Given the description of an element on the screen output the (x, y) to click on. 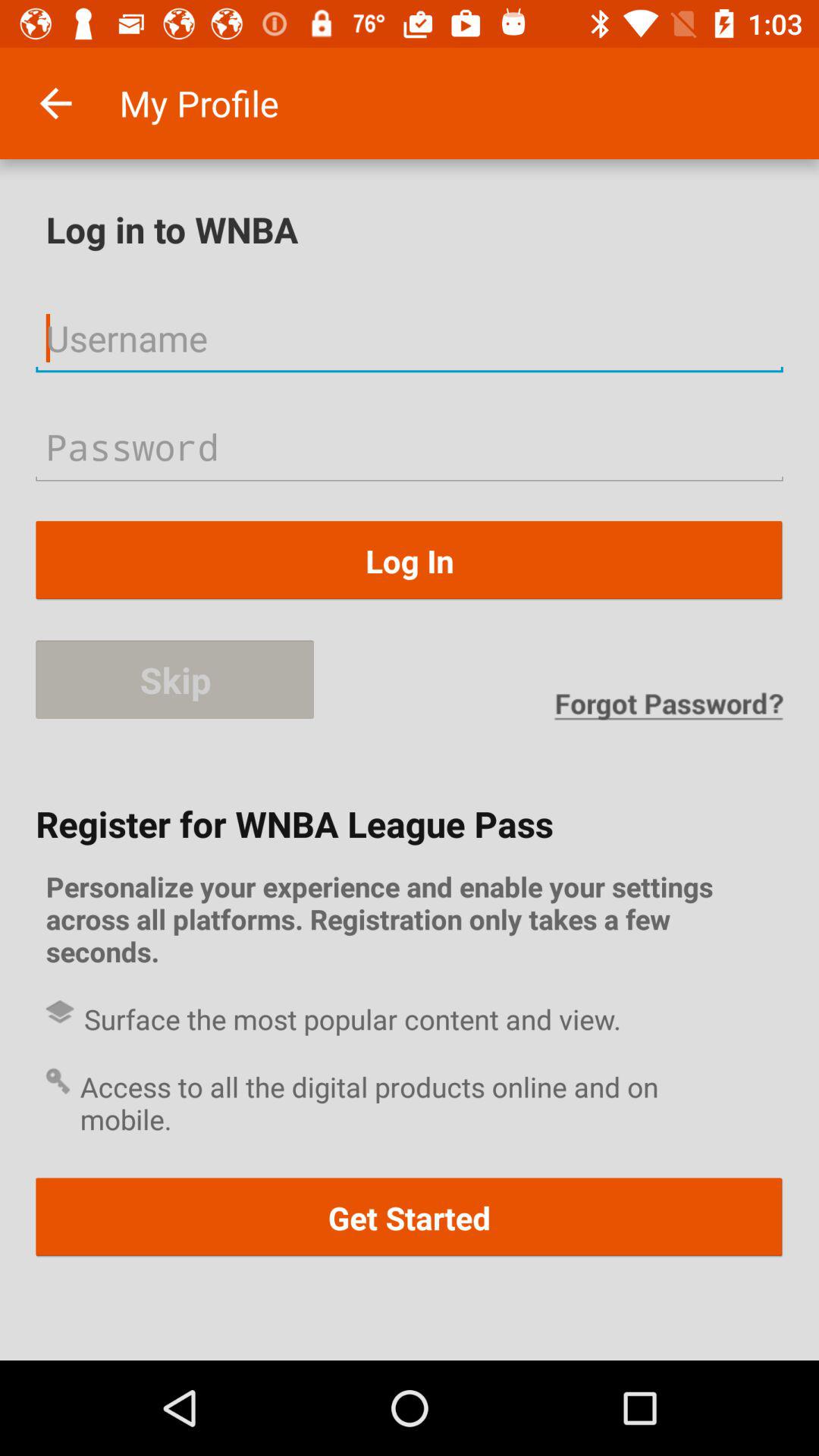
click the get started icon (409, 1217)
